Given the description of an element on the screen output the (x, y) to click on. 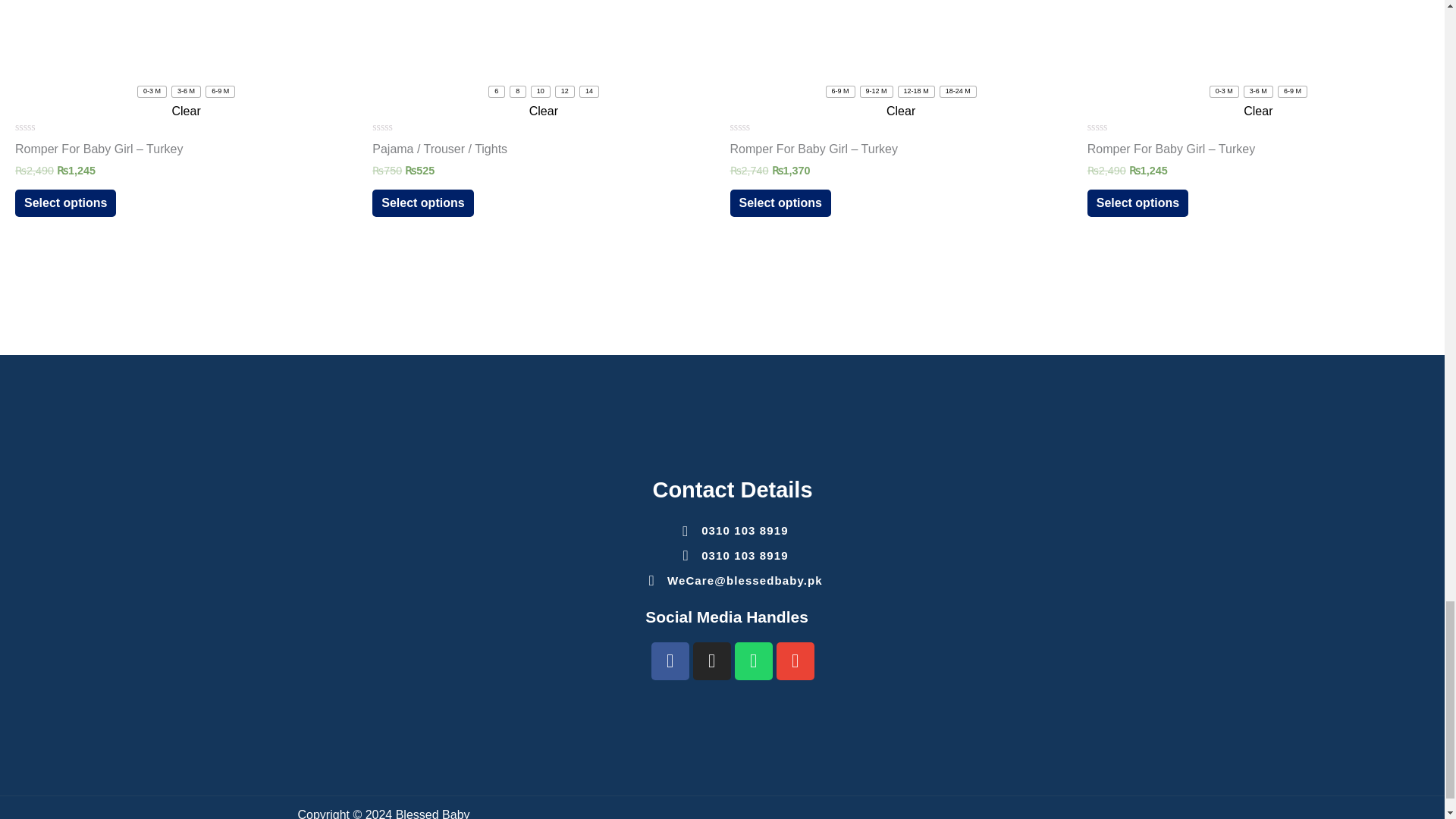
6-9 M (220, 91)
6-9 M (840, 91)
6 (496, 91)
8 (518, 91)
12 (564, 91)
10 (540, 91)
9-12 M (876, 91)
12-18 M (916, 91)
18-24 M (957, 91)
14 (588, 91)
